Given the description of an element on the screen output the (x, y) to click on. 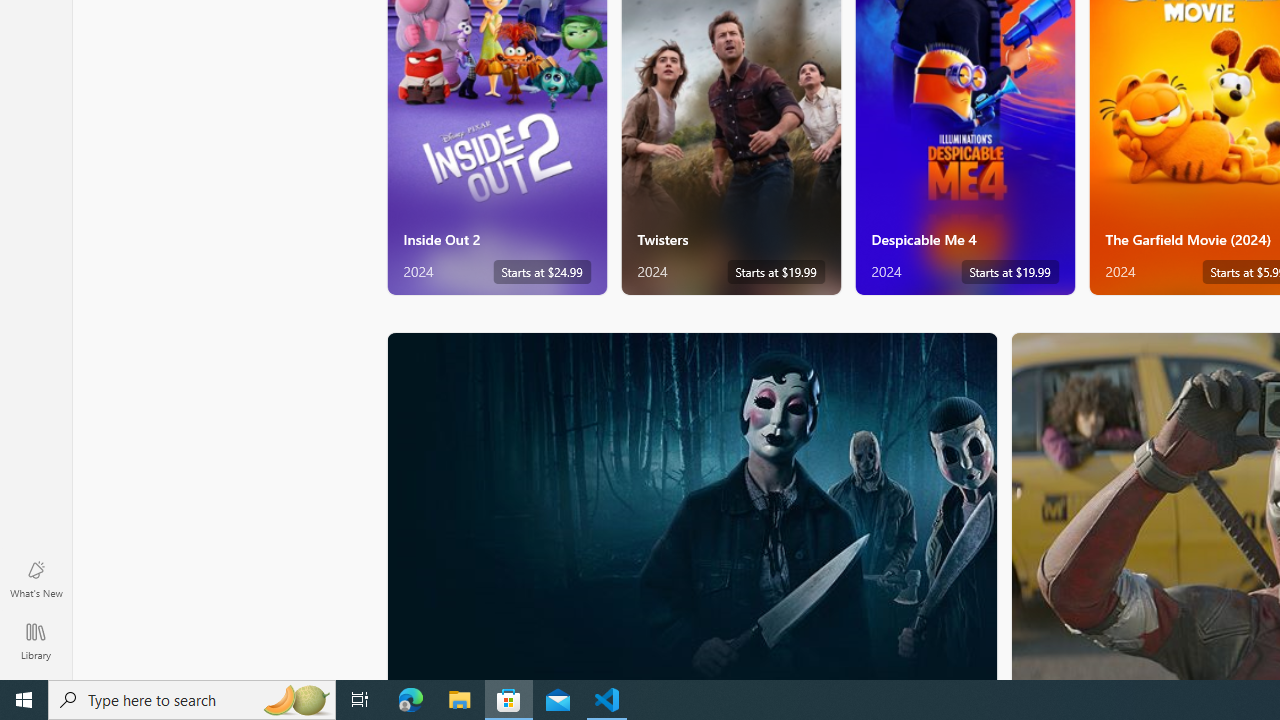
AutomationID: PosterImage (690, 505)
Horror (692, 505)
